Given the description of an element on the screen output the (x, y) to click on. 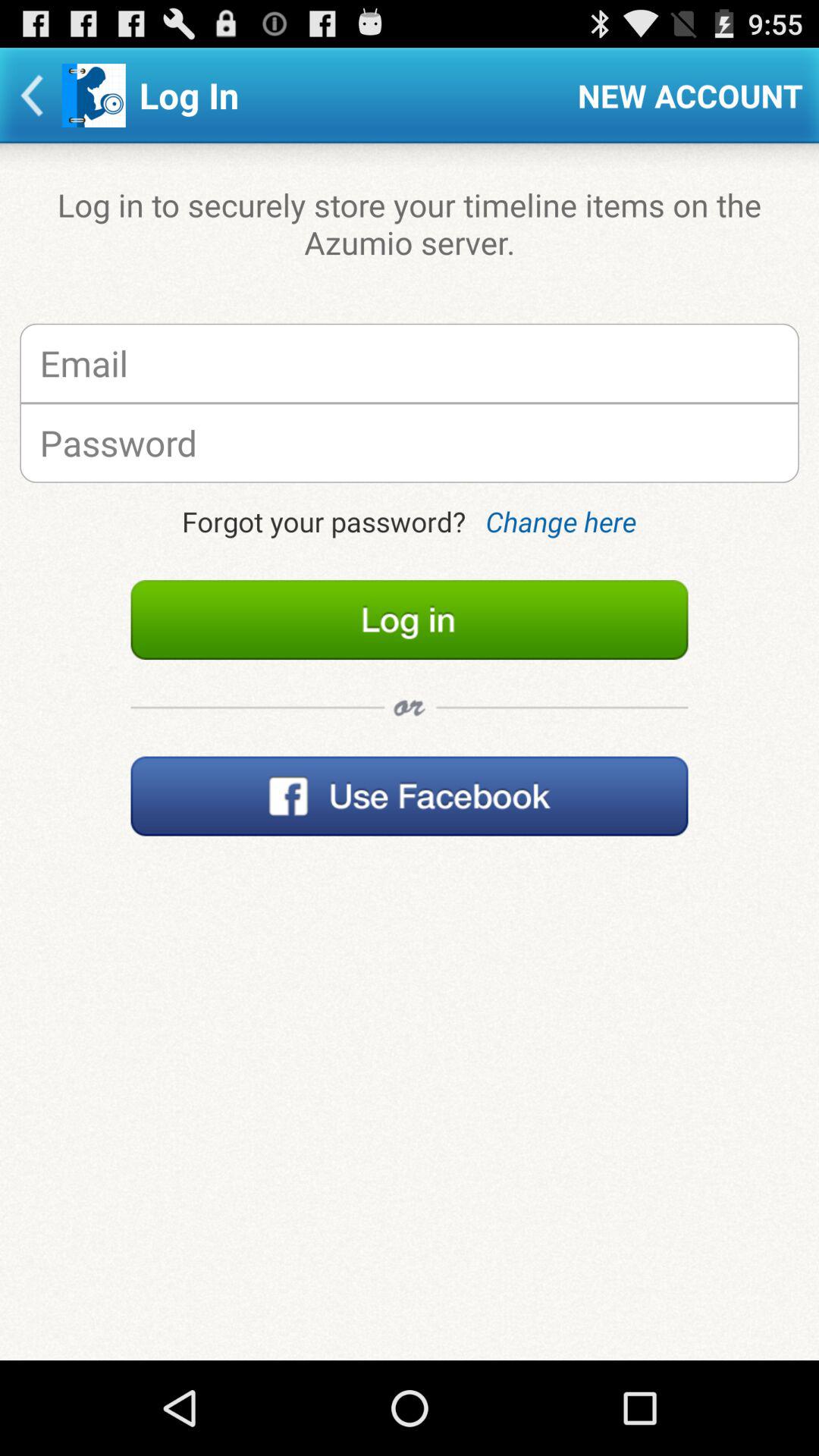
imput email associated with account (409, 363)
